Given the description of an element on the screen output the (x, y) to click on. 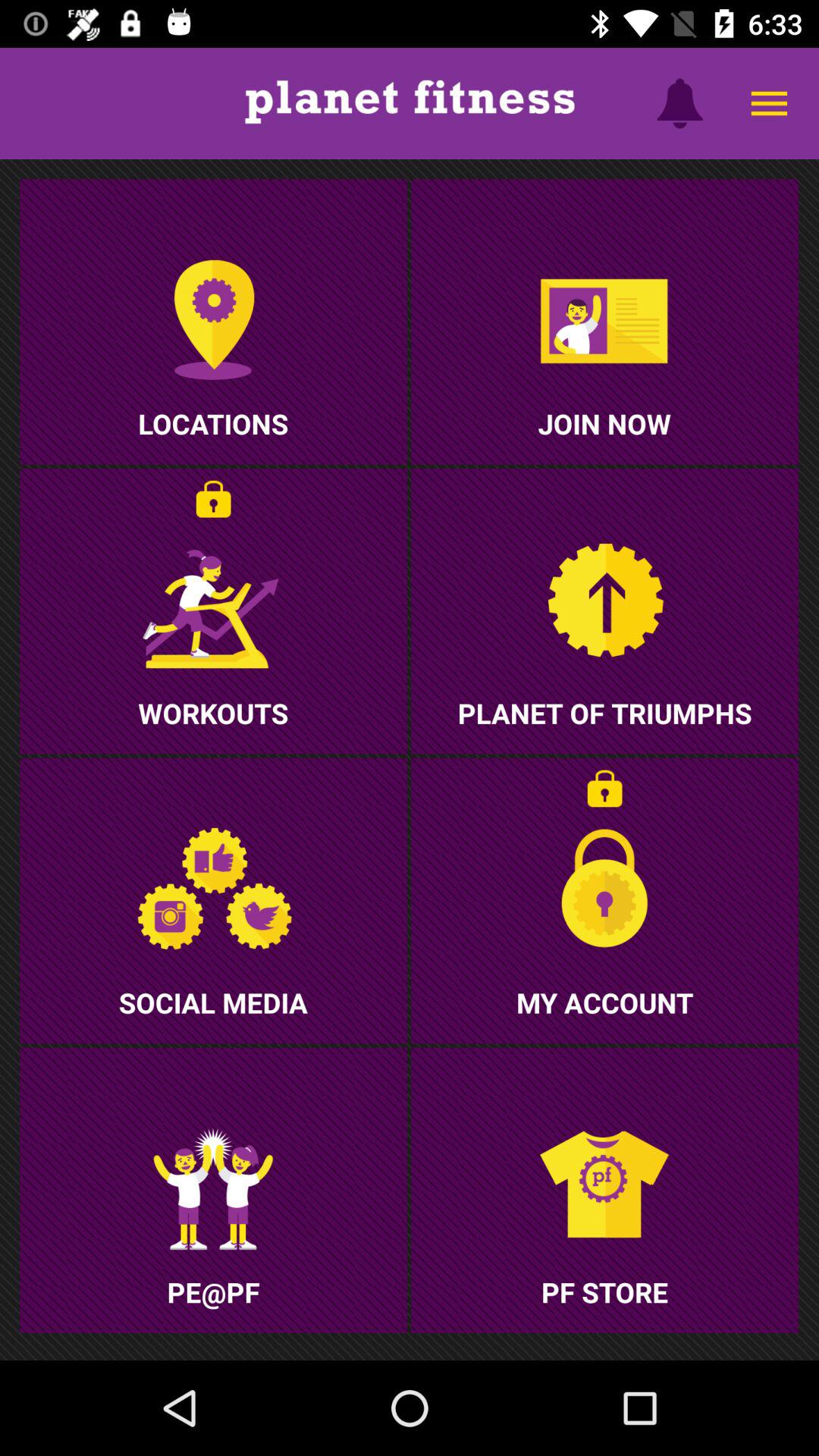
select the second row of first image (213, 611)
select the first icon in the third row (213, 1189)
select the fifth image in planet fitness (213, 900)
choose the first category in planet fitness (213, 321)
click on the image which is above the pf store (604, 1189)
